Given the description of an element on the screen output the (x, y) to click on. 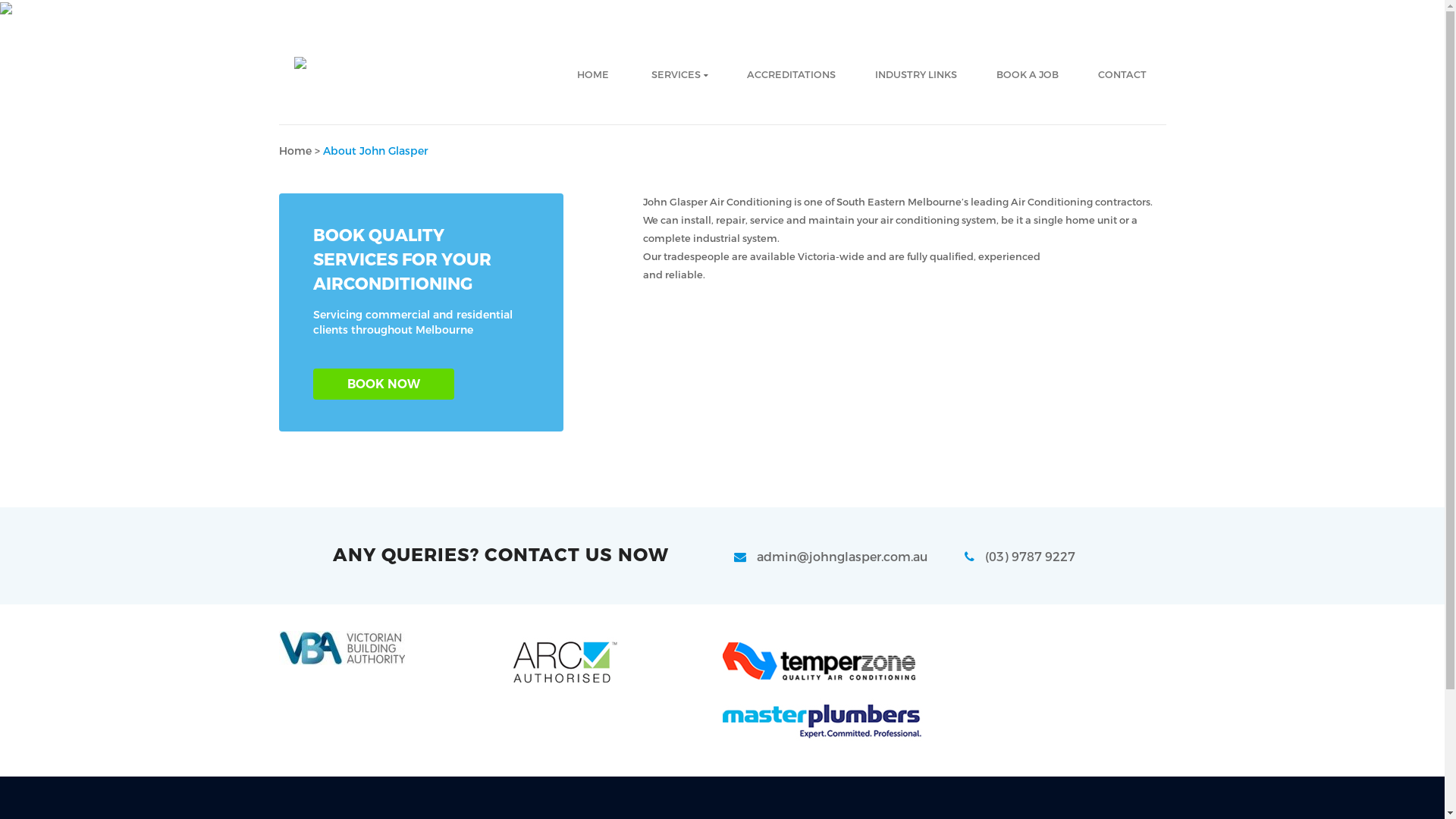
HOME Element type: text (591, 74)
(03) 9787 9227 Element type: text (1111, 27)
admin@johnglasper.com.au Element type: text (939, 27)
INDUSTRY LINKS Element type: text (915, 74)
CONTACT Element type: text (1122, 74)
SERVICES Element type: text (677, 74)
BOOK NOW Element type: text (382, 383)
admin@johnglasper.com.au Element type: text (830, 556)
BOOK A JOB Element type: text (1027, 74)
ACCREDITATIONS Element type: text (790, 74)
Home Element type: text (295, 151)
(03) 9787 9227 Element type: text (1019, 556)
